Given the description of an element on the screen output the (x, y) to click on. 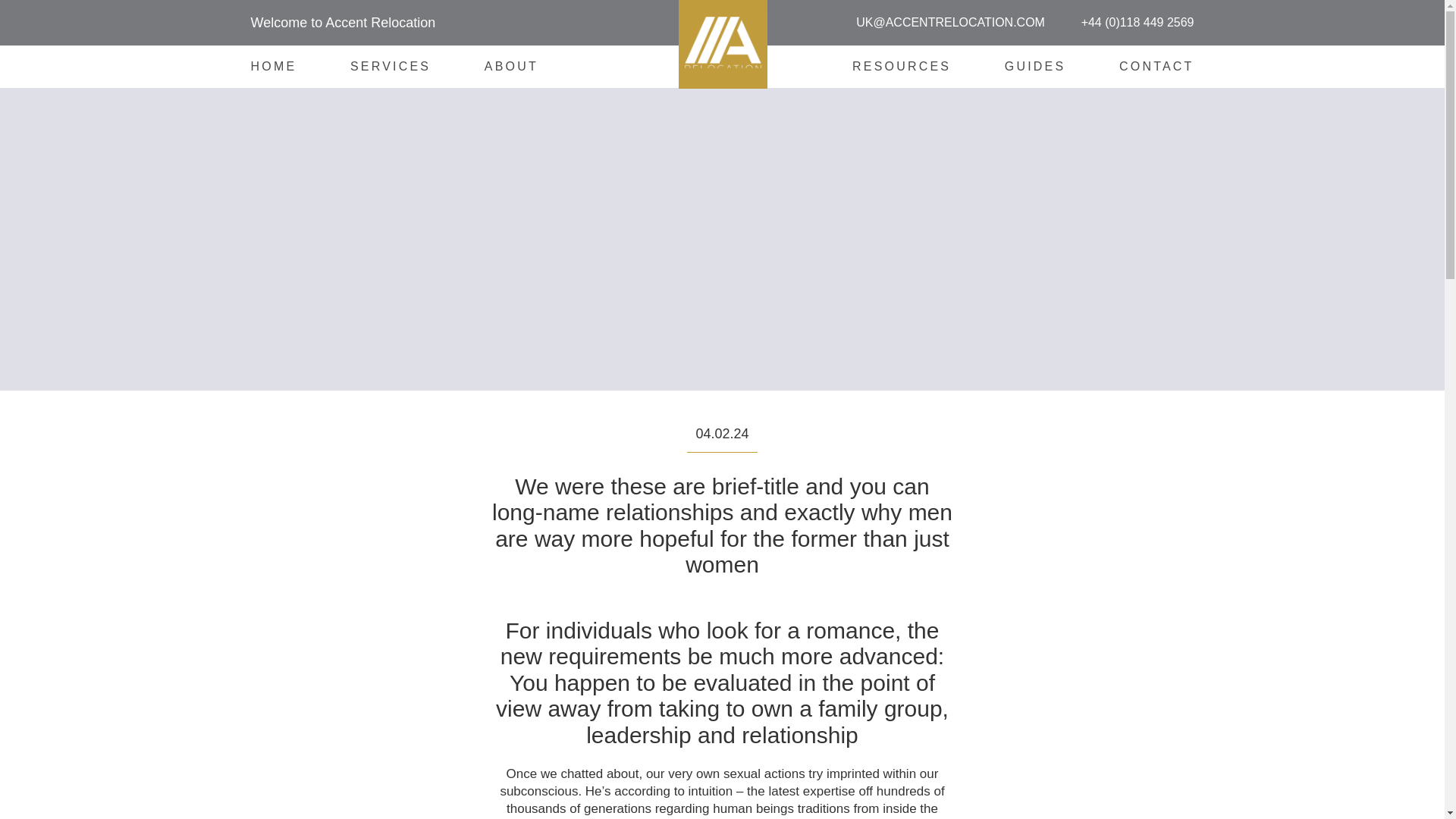
RESOURCES (900, 66)
SERVICES (390, 66)
GUIDES (1034, 66)
HOME (273, 66)
Accent Relocation (831, 144)
ABOUT (511, 66)
